Given the description of an element on the screen output the (x, y) to click on. 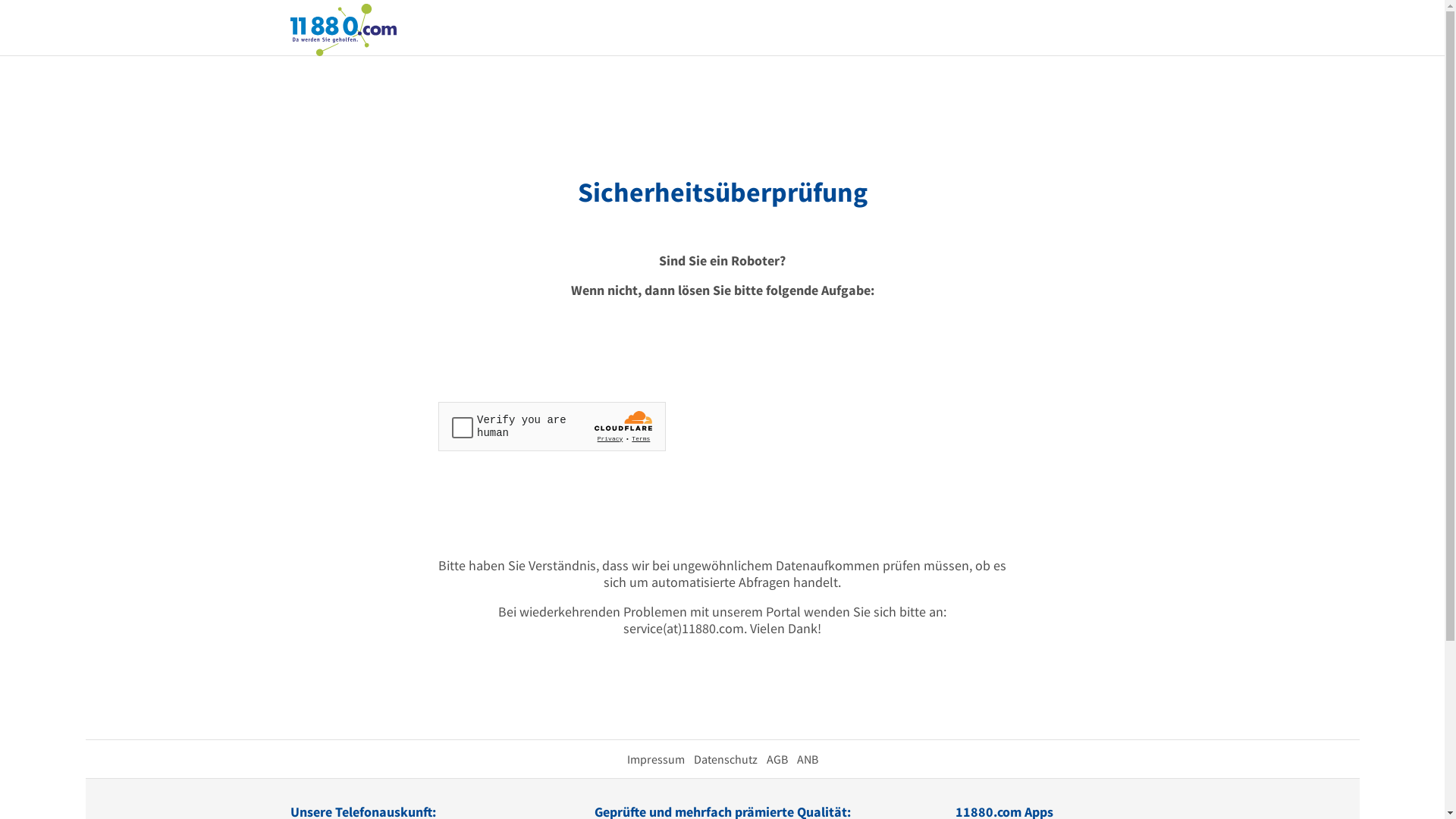
AGB Element type: text (776, 758)
Widget containing a Cloudflare security challenge Element type: hover (551, 426)
ANB Element type: text (806, 758)
Impressum Element type: text (655, 758)
Datenschutz Element type: text (724, 758)
11880.com Element type: hover (342, 28)
